Given the description of an element on the screen output the (x, y) to click on. 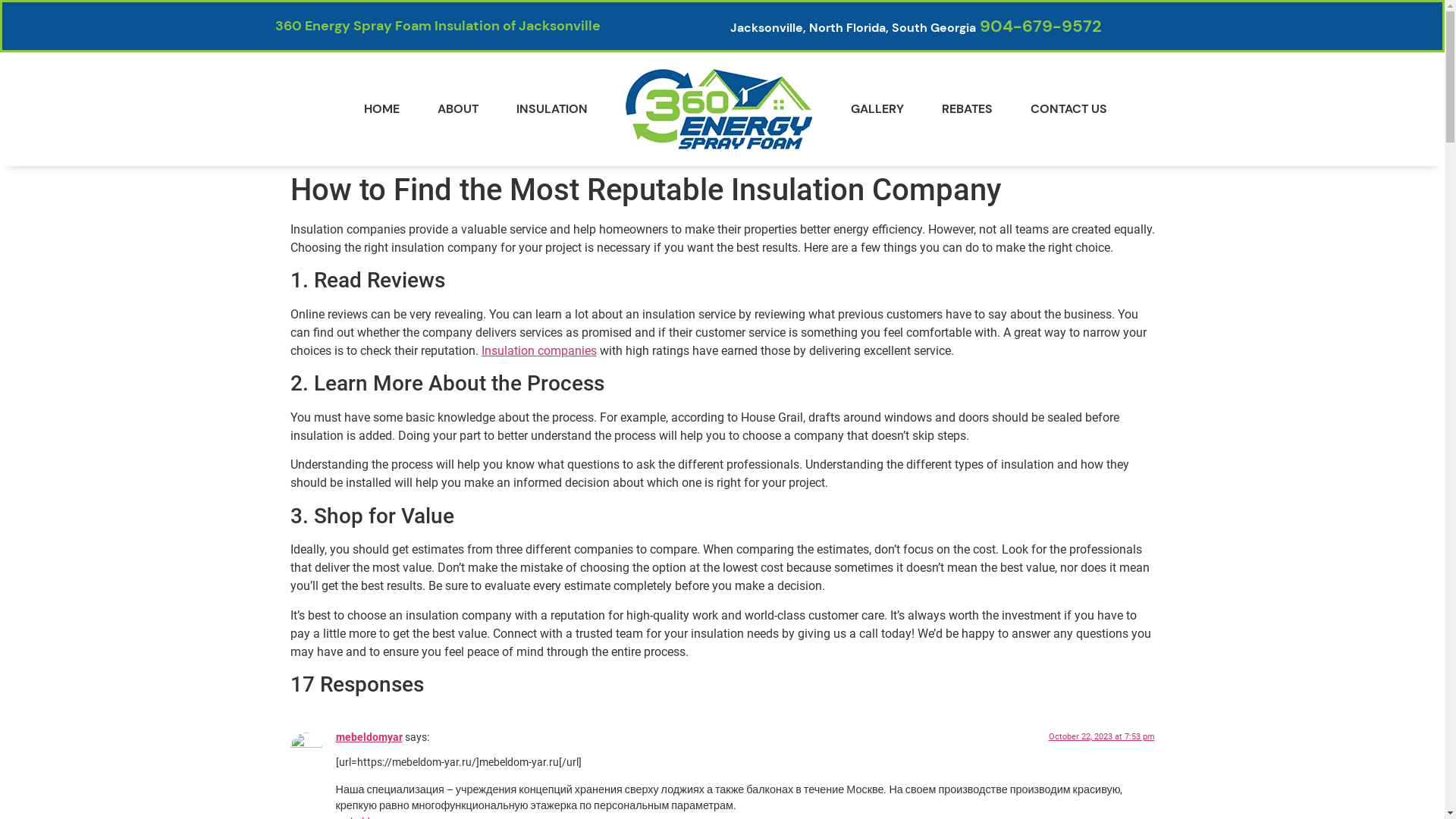
HOME Element type: text (381, 108)
Insulation companies Element type: text (538, 350)
ABOUT Element type: text (456, 108)
INSULATION Element type: text (550, 108)
GALLERY Element type: text (876, 108)
mebeldomyar Element type: text (368, 737)
360 Energy Spray Foam Insulation of Jacksonville Element type: text (436, 25)
904-679-9572 Element type: text (1040, 26)
CONTACT US Element type: text (1068, 108)
October 22, 2023 at 7:53 pm Element type: text (1101, 736)
REBATES Element type: text (966, 108)
